Given the description of an element on the screen output the (x, y) to click on. 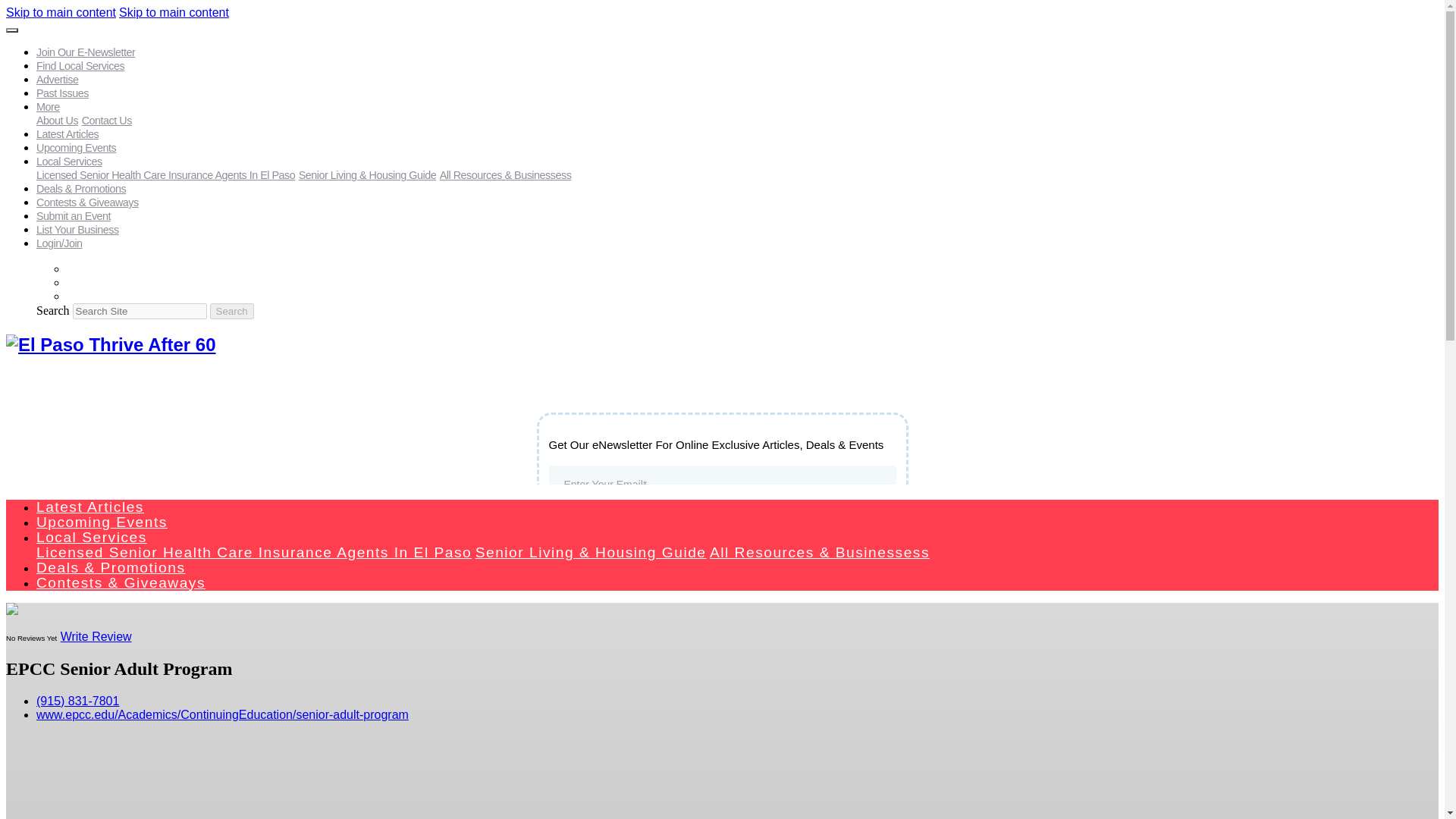
Skip to main content (173, 11)
Join Our E-Newsletter (85, 51)
List Your Business (77, 229)
Find Local Services (79, 65)
Advertise (57, 79)
Upcoming Events (101, 521)
More (47, 106)
Latest Articles (90, 506)
Write Review (96, 635)
Submit an Event (73, 215)
